Given the description of an element on the screen output the (x, y) to click on. 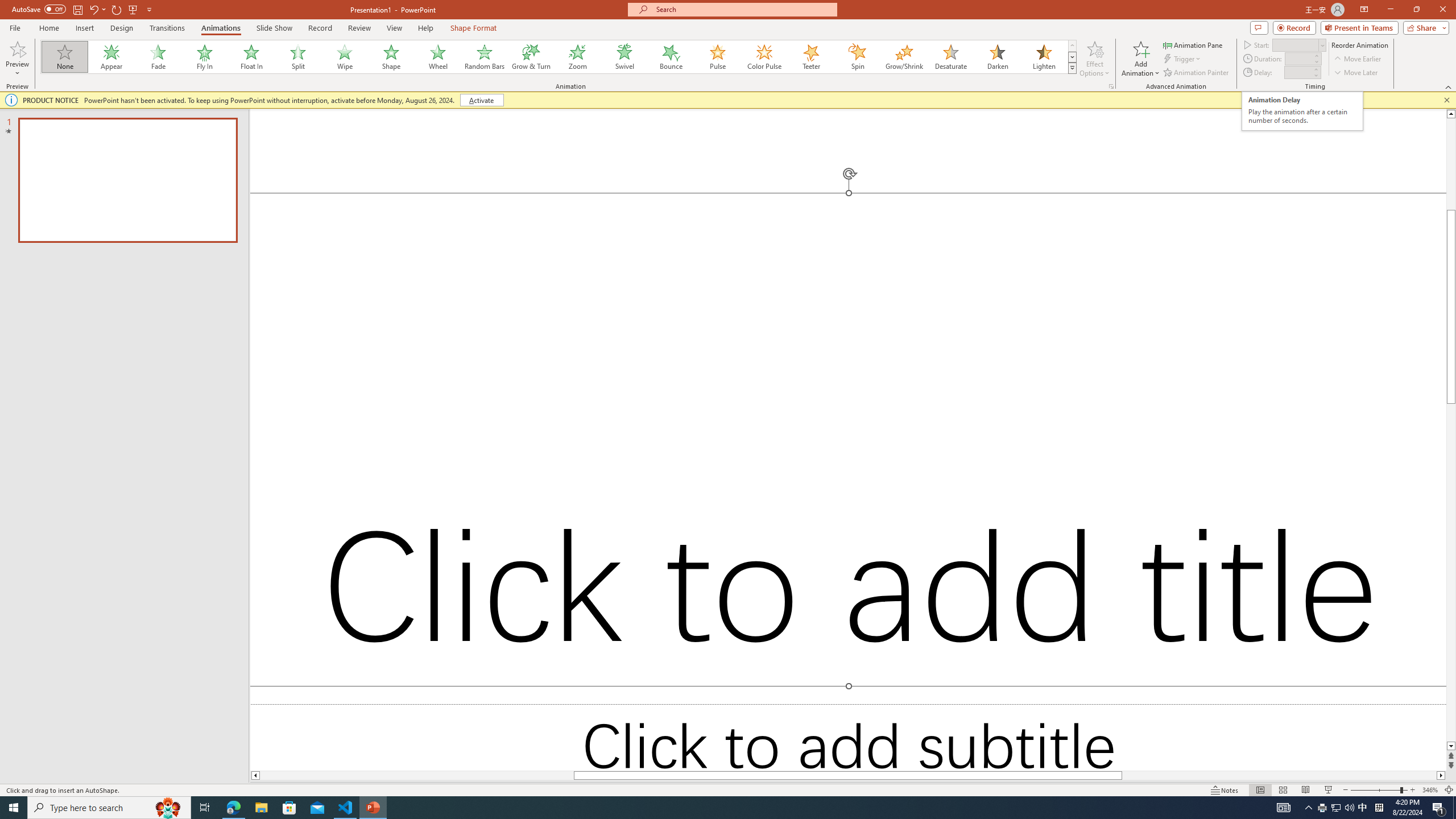
Animation Duration (1298, 58)
Less (1315, 75)
Move Earlier (1357, 58)
Teeter (810, 56)
Wheel (437, 56)
Darken (997, 56)
